Given the description of an element on the screen output the (x, y) to click on. 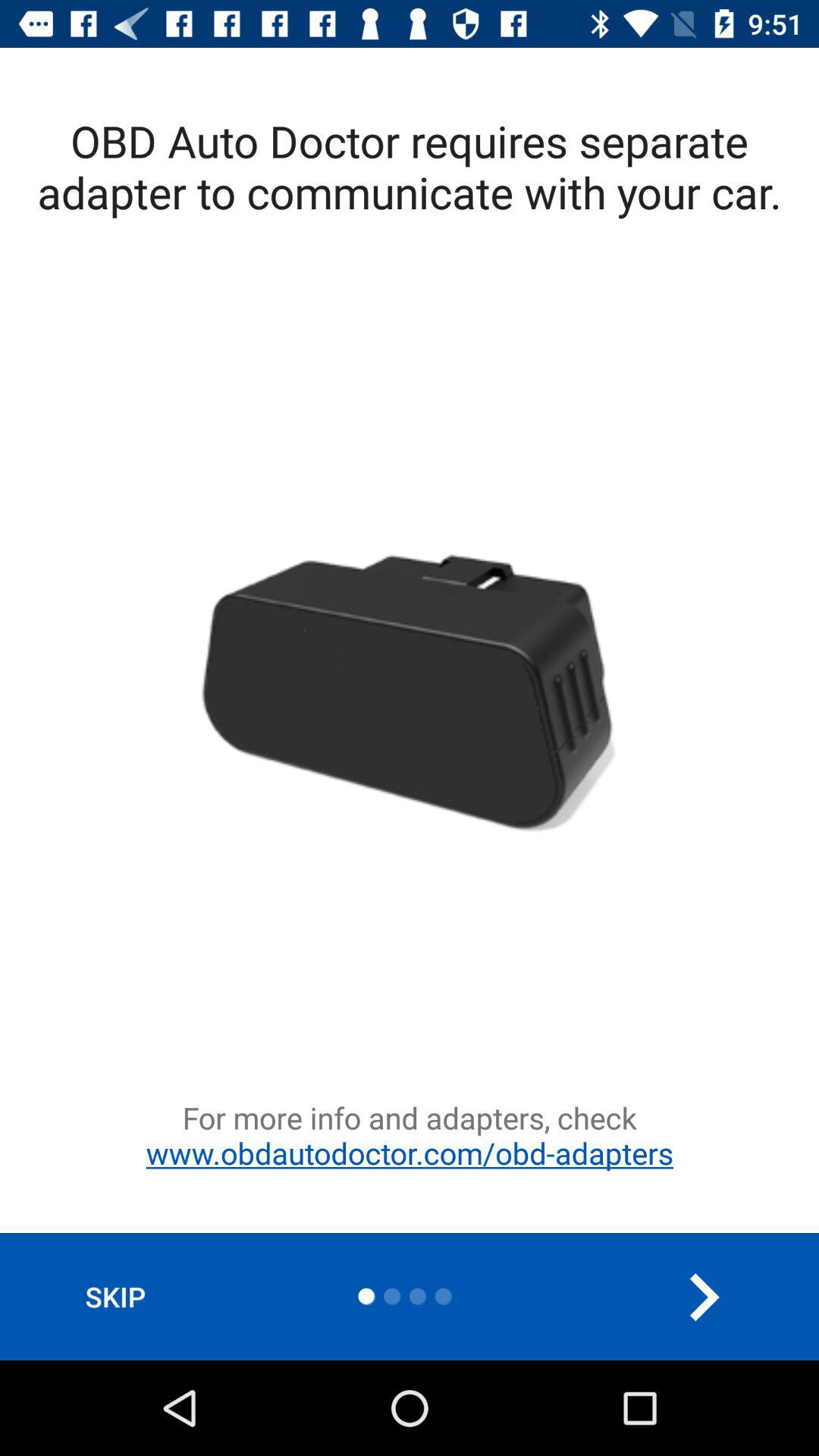
tap skip icon (114, 1296)
